Given the description of an element on the screen output the (x, y) to click on. 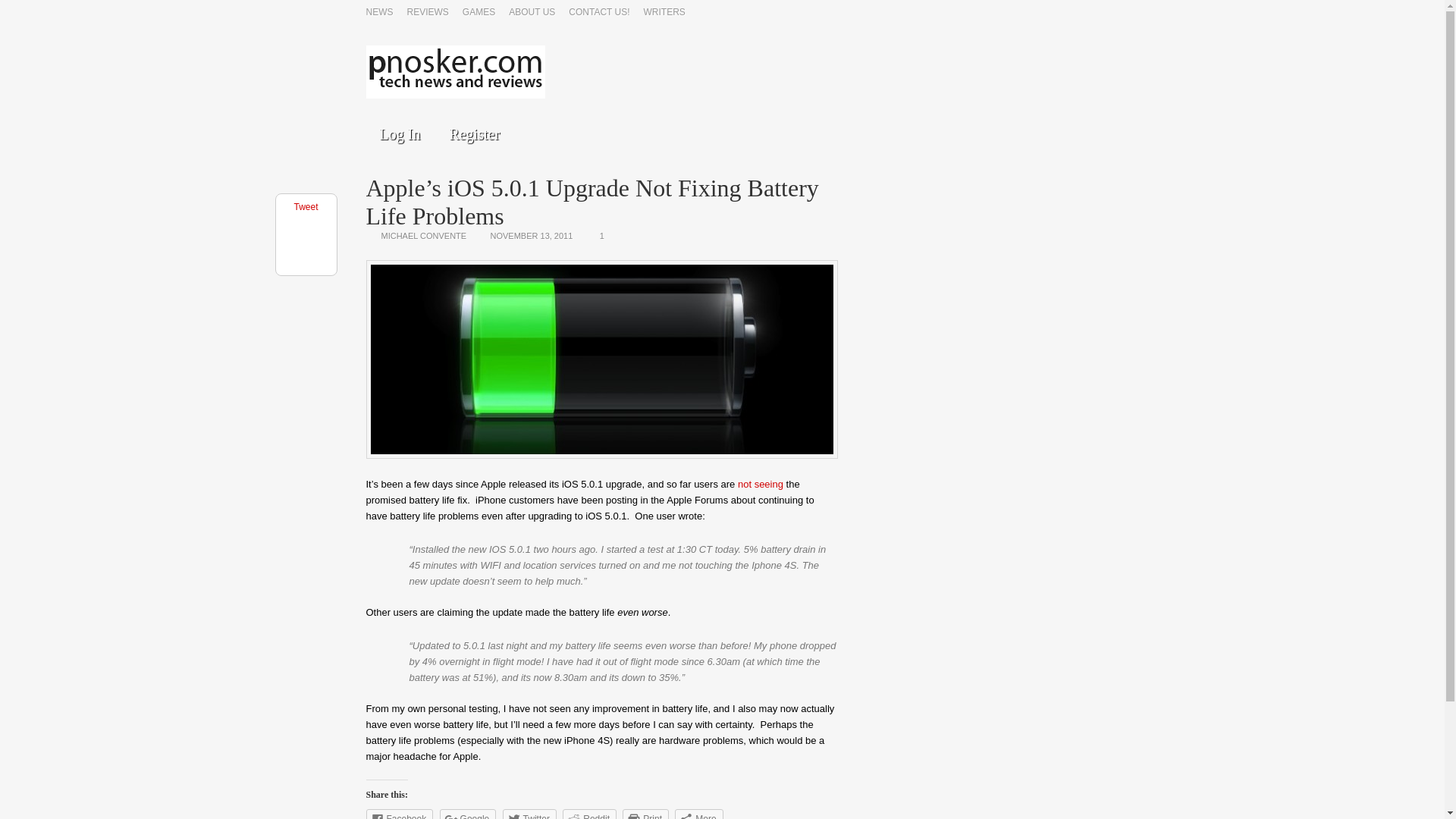
Reddit (588, 814)
Register (474, 133)
Facebook (398, 814)
Log In (399, 133)
Print (645, 814)
WRITERS (664, 13)
GAMES (479, 13)
CONTACT US! (598, 13)
not seeing (760, 483)
Click to share on Reddit (588, 814)
